Given the description of an element on the screen output the (x, y) to click on. 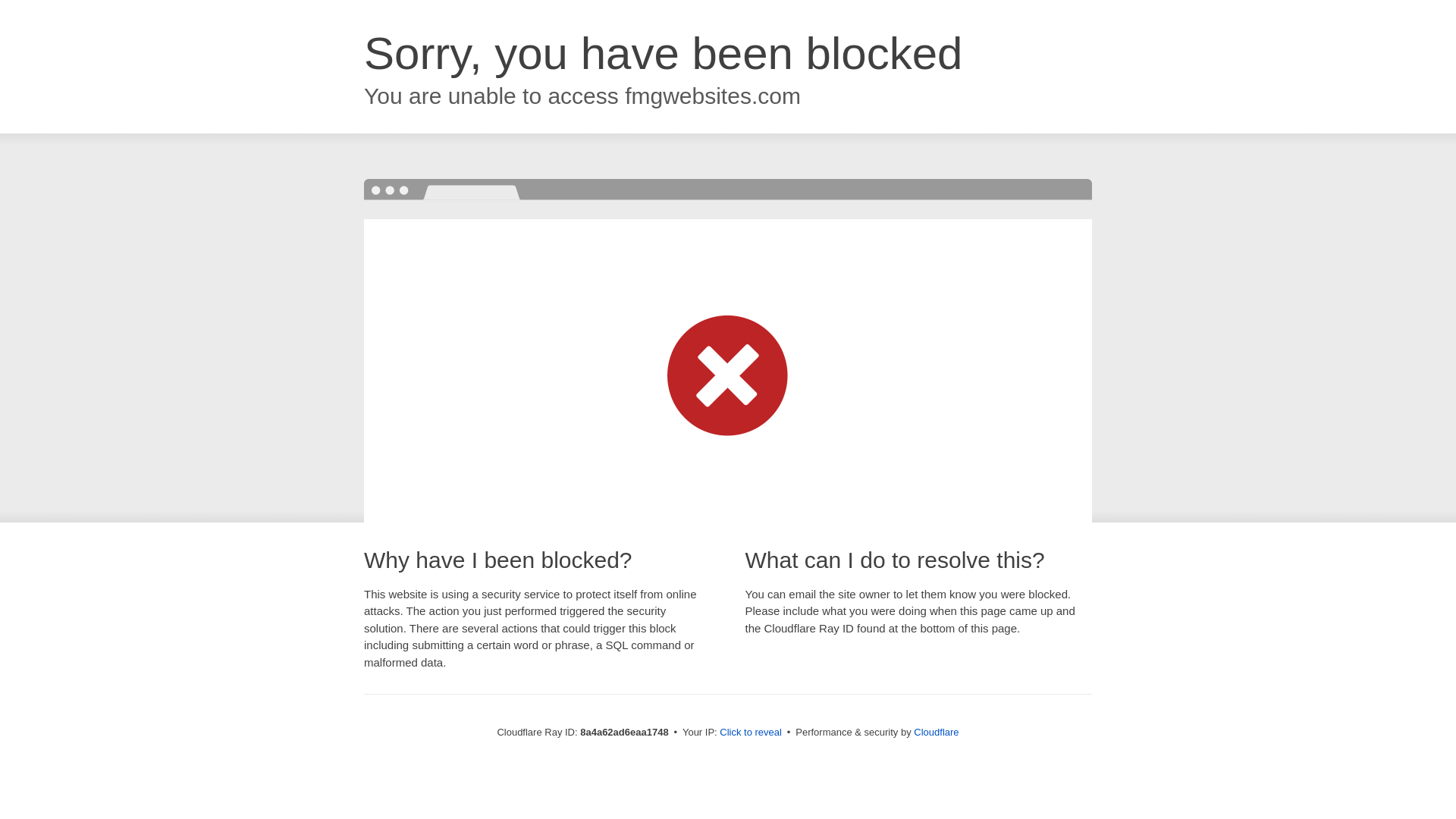
Click to reveal (750, 732)
Cloudflare (936, 731)
